Given the description of an element on the screen output the (x, y) to click on. 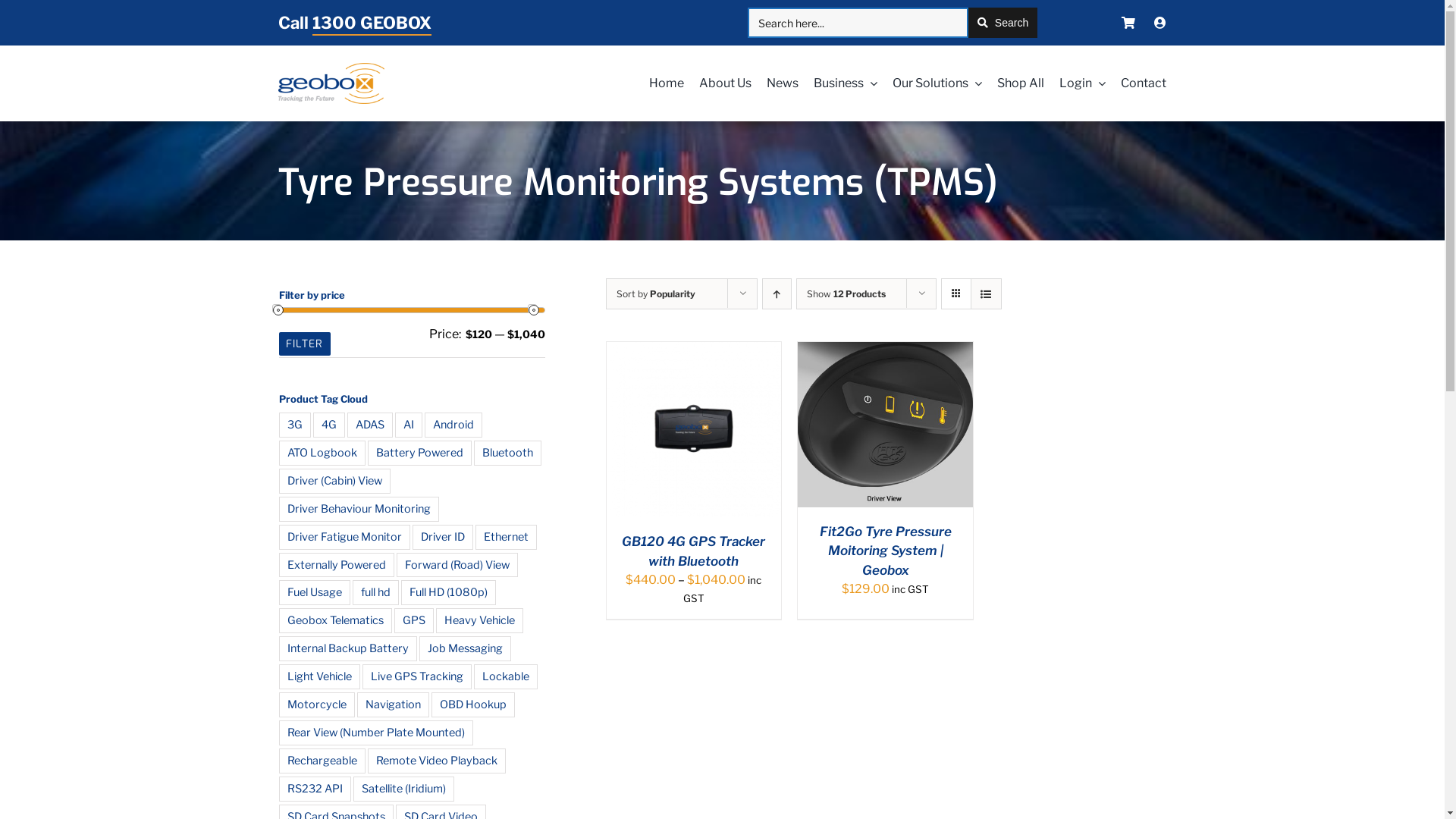
Light Vehicle Element type: text (319, 676)
Driver (Cabin) View Element type: text (334, 480)
Android Element type: text (453, 424)
Sort by Popularity Element type: text (654, 293)
Job Messaging Element type: text (464, 648)
News Element type: text (774, 83)
Heavy Vehicle Element type: text (478, 620)
OBD Hookup Element type: text (472, 704)
Battery Powered Element type: text (418, 452)
Driver ID Element type: text (442, 536)
ADAS Element type: text (369, 424)
Home Element type: text (658, 83)
Ethernet Element type: text (505, 536)
Forward (Road) View Element type: text (456, 564)
Login Element type: text (1074, 83)
1300 GEOBOX Element type: text (371, 23)
Driver Behaviour Monitoring Element type: text (359, 508)
RS232 API Element type: text (315, 788)
full hd Element type: text (374, 592)
Full HD (1080p) Element type: text (447, 592)
Driver Fatigue Monitor Element type: text (344, 536)
Motorcycle Element type: text (316, 704)
Rechargeable Element type: text (322, 760)
Fit2Go Tyre Pressure Moitoring System | Geobox Element type: text (885, 550)
Live GPS Tracking Element type: text (416, 676)
Our Solutions Element type: text (929, 83)
ATO Logbook Element type: text (322, 452)
Business Element type: text (837, 83)
Navigation Element type: text (392, 704)
Satellite (Iridium) Element type: text (403, 788)
GPS Element type: text (413, 620)
Lockable Element type: text (504, 676)
4G Element type: text (328, 424)
Contact Element type: text (1135, 83)
Show 12 Products Element type: text (845, 293)
About Us Element type: text (717, 83)
Externally Powered Element type: text (336, 564)
Remote Video Playback Element type: text (436, 760)
GB120 4G GPS Tracker with Bluetooth Element type: text (693, 550)
AI Element type: text (407, 424)
Internal Backup Battery Element type: text (348, 648)
FILTER Element type: text (305, 343)
Rear View (Number Plate Mounted) Element type: text (376, 732)
Fuel Usage Element type: text (314, 592)
Geobox Telematics Element type: text (335, 620)
Shop All Element type: text (1013, 83)
Bluetooth Element type: text (506, 452)
3G Element type: text (294, 424)
